Given the description of an element on the screen output the (x, y) to click on. 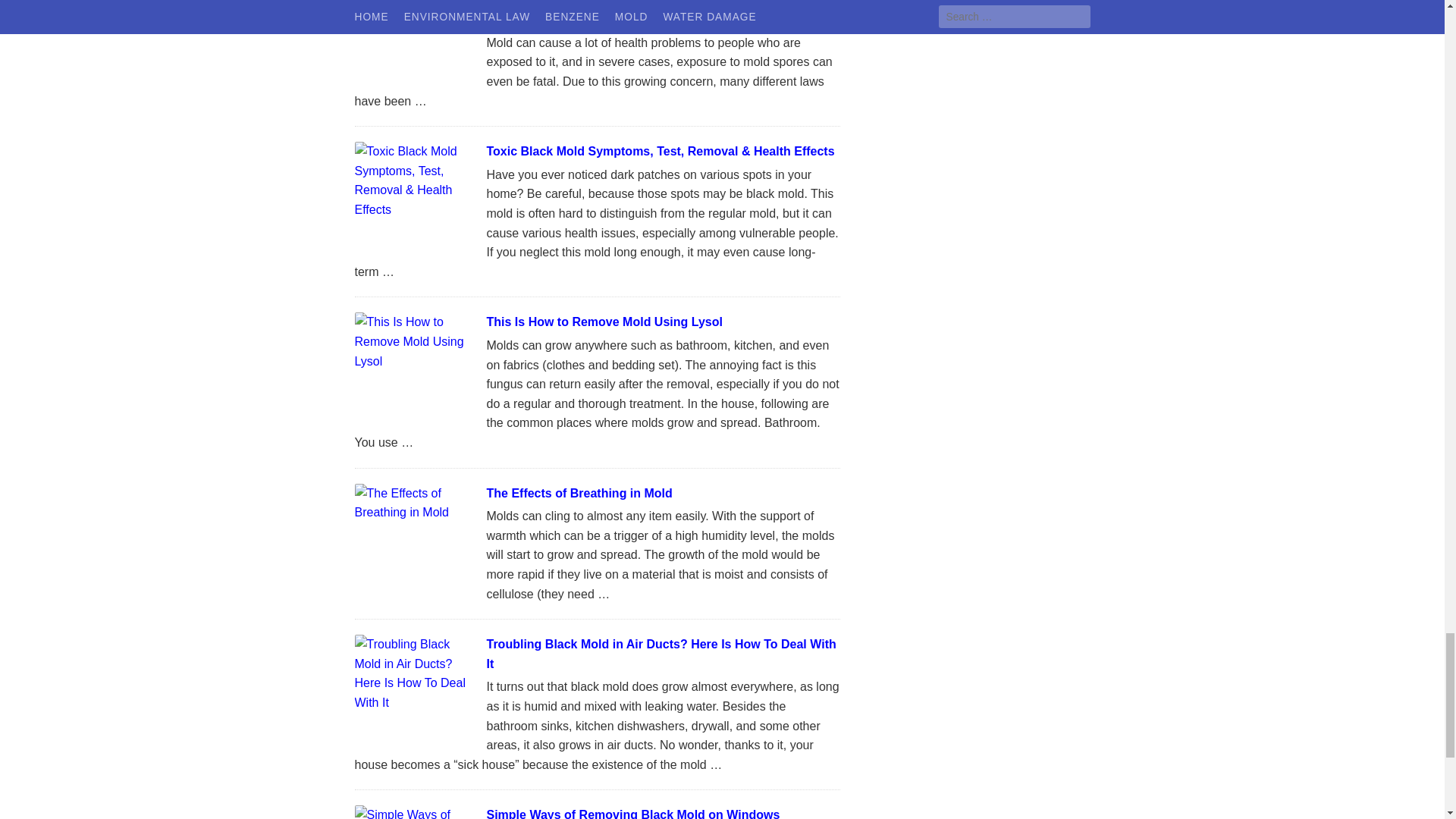
This Is How to Remove Mold Using Lysol (604, 321)
The Effects of Breathing in Mold (579, 492)
Simple Ways of Removing Black Mold on Windows (633, 813)
